Given the description of an element on the screen output the (x, y) to click on. 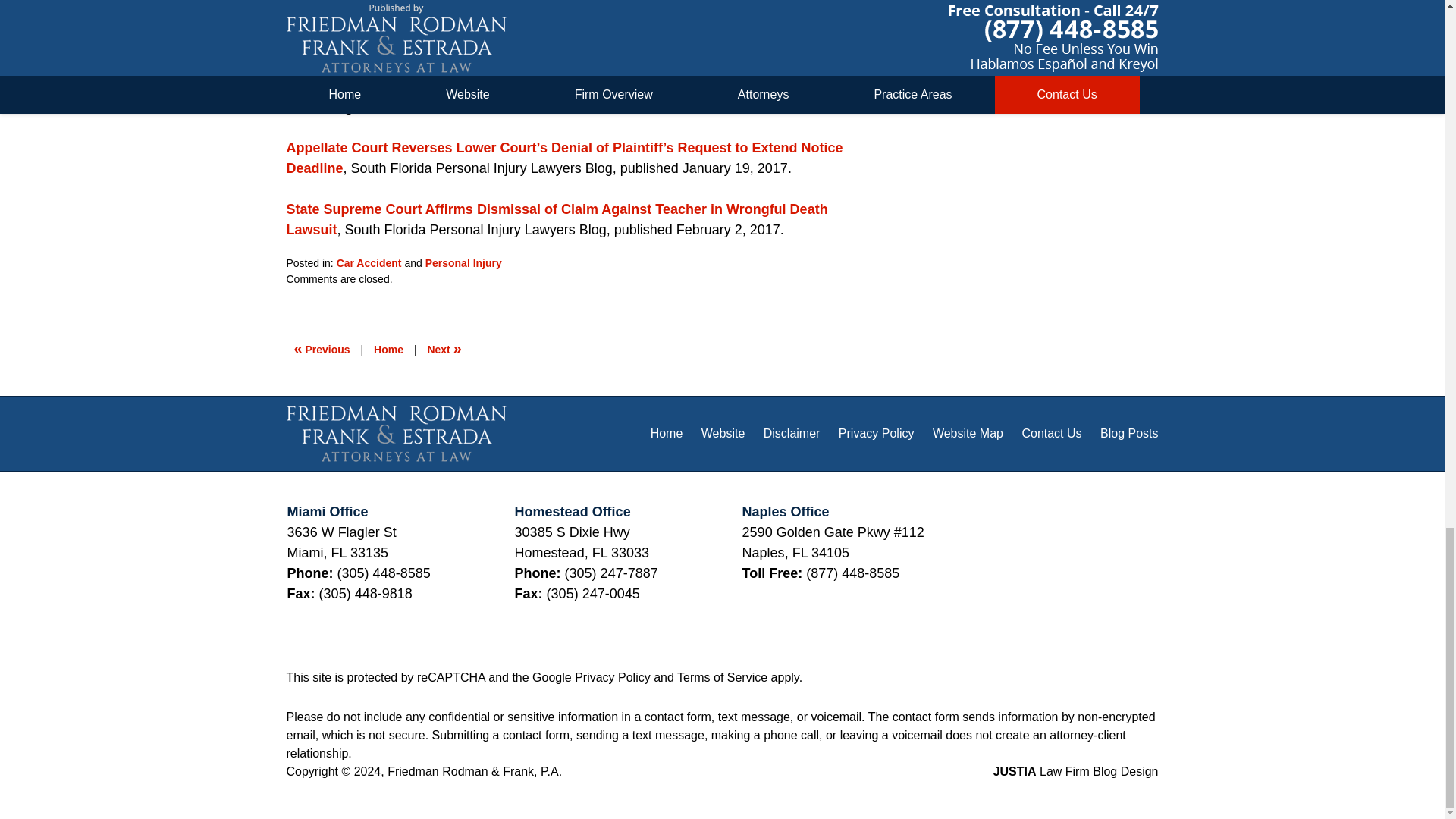
View all posts in Personal Injury (463, 263)
car accident (529, 24)
Car Accident (368, 263)
Personal Injury (463, 263)
View all posts in Car Accident (368, 263)
Home (388, 349)
